Given the description of an element on the screen output the (x, y) to click on. 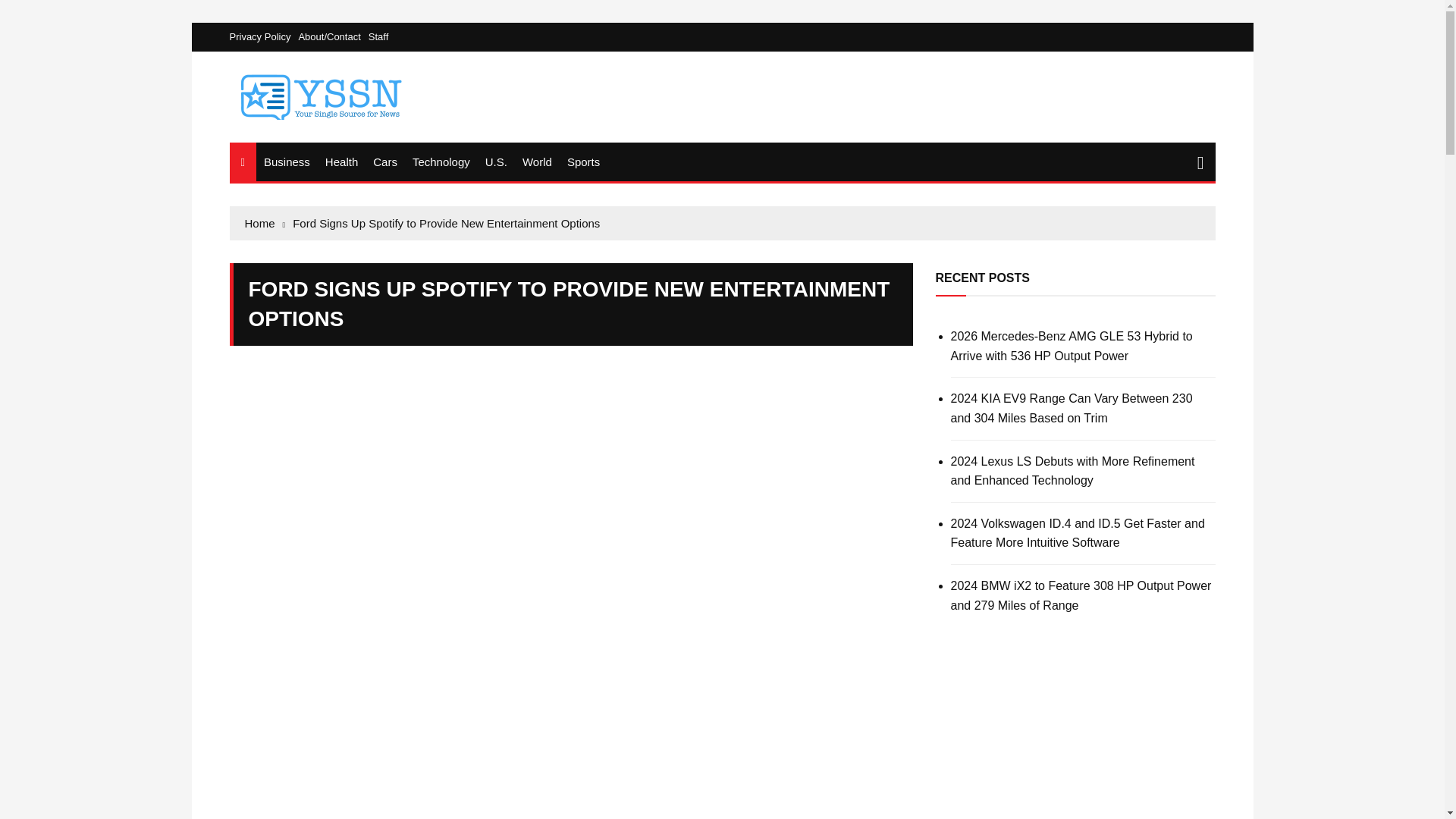
World (537, 161)
Health (341, 161)
Technology (440, 161)
Business (286, 161)
Home (264, 223)
Sports (583, 161)
Ford Signs Up Spotify to Provide New Entertainment Options (445, 223)
Privacy Policy (263, 36)
Staff (378, 36)
Cars (384, 161)
